Given the description of an element on the screen output the (x, y) to click on. 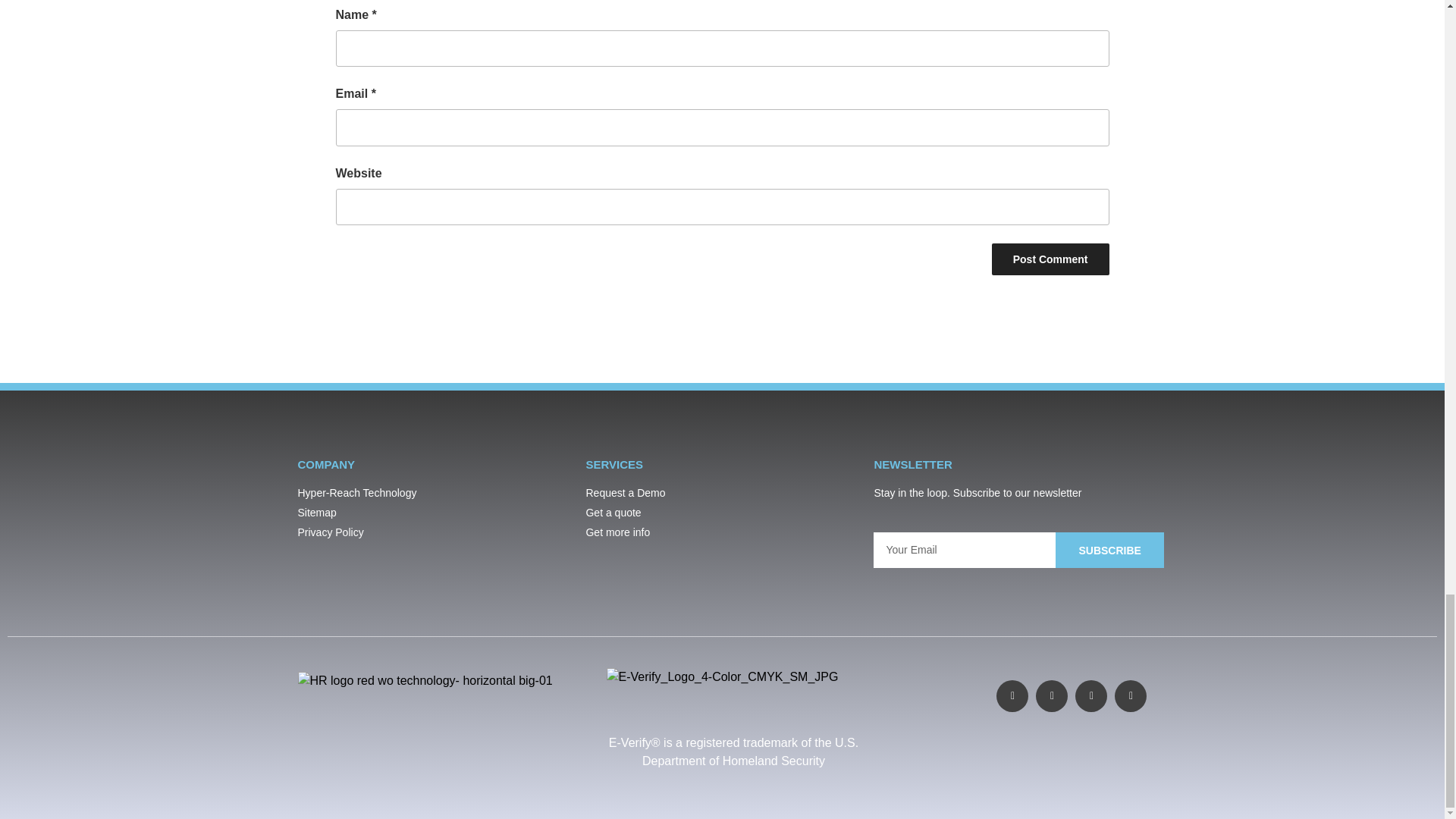
HR logo red wo technology- horizontal big-01 (424, 680)
Post Comment (1050, 259)
